Given the description of an element on the screen output the (x, y) to click on. 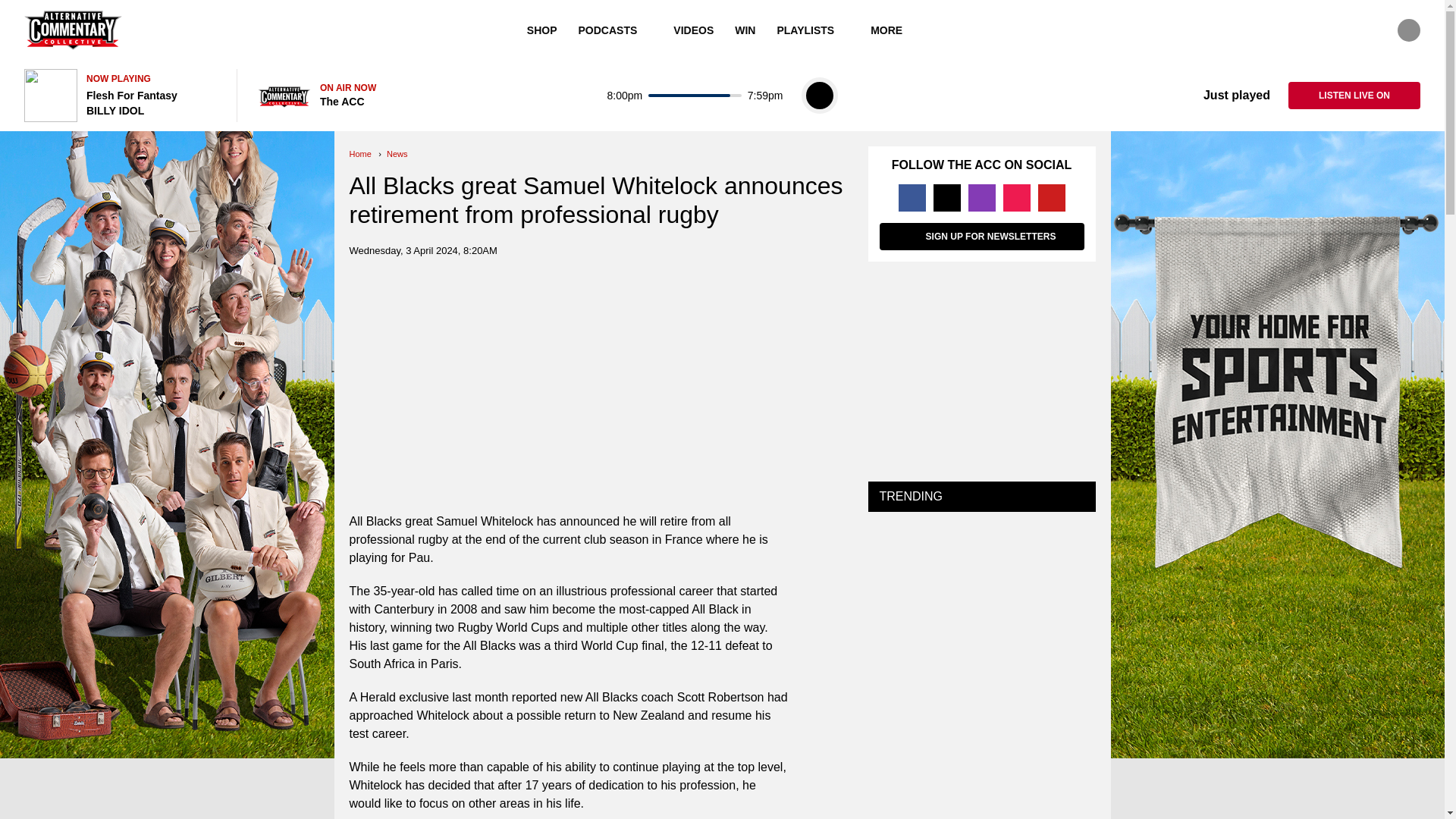
Youtube (1050, 197)
MORE (894, 29)
SHOP (541, 29)
PODCASTS (615, 30)
Tiktok (1016, 197)
Facebook (911, 197)
The ACC (73, 29)
PLAYLISTS (812, 30)
VIDEOS (692, 29)
Instagram (981, 197)
